Given the description of an element on the screen output the (x, y) to click on. 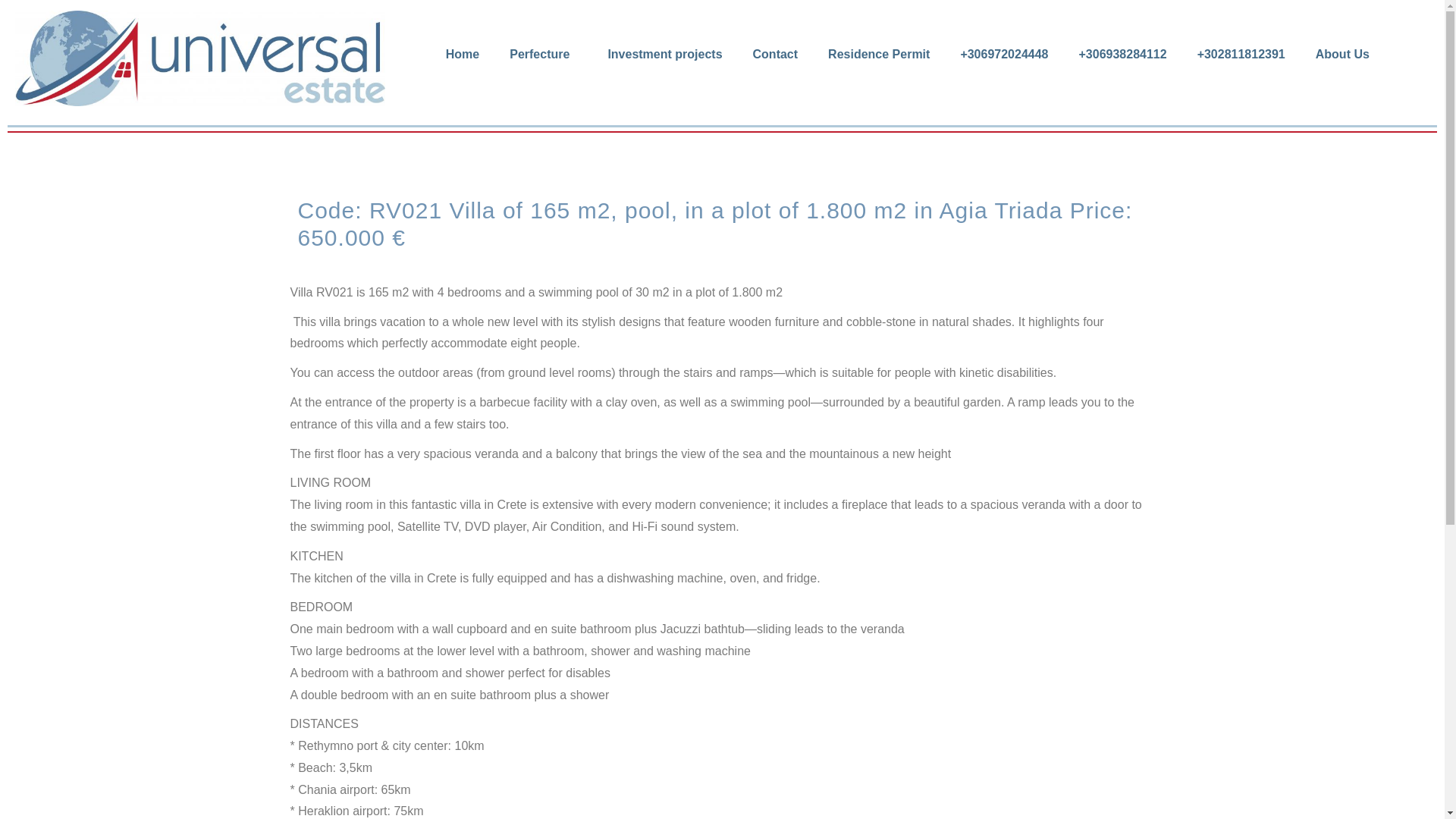
Home (462, 54)
Contact (775, 54)
Residence Permit (878, 54)
Perfecture (543, 54)
About Us (1342, 54)
Investment projects (664, 54)
